Given the description of an element on the screen output the (x, y) to click on. 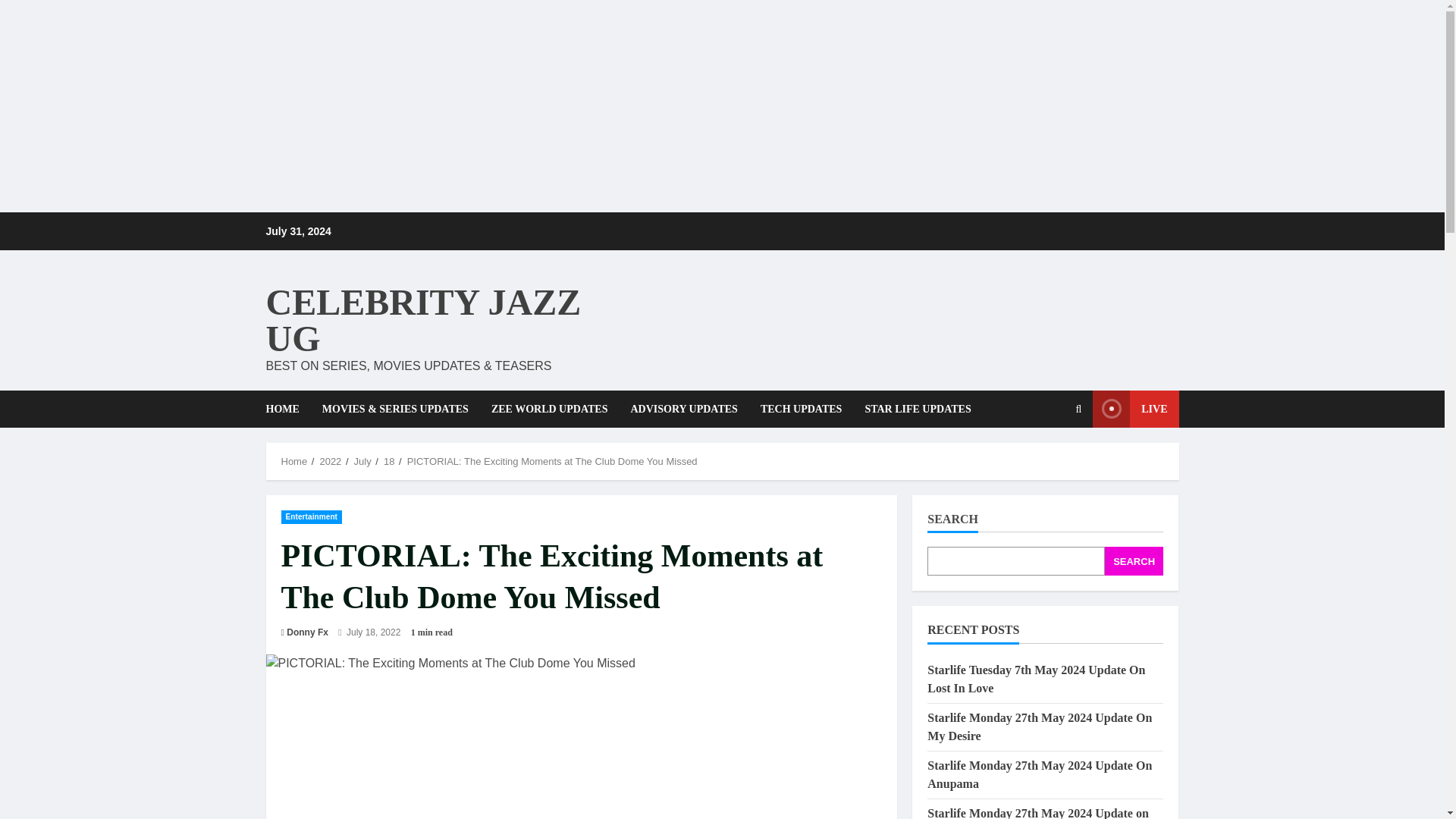
Donny Fx (307, 632)
ZEE WORLD UPDATES (550, 408)
ADVISORY UPDATES (683, 408)
HOME (287, 408)
PICTORIAL: The Exciting Moments at The Club Dome You Missed (552, 460)
2022 (329, 460)
18 (389, 460)
LIVE (1135, 408)
TECH UPDATES (801, 408)
CELEBRITY JAZZ UG (422, 319)
Home (294, 460)
Entertainment (311, 517)
STAR LIFE UPDATES (912, 408)
Search (1042, 460)
July (362, 460)
